Given the description of an element on the screen output the (x, y) to click on. 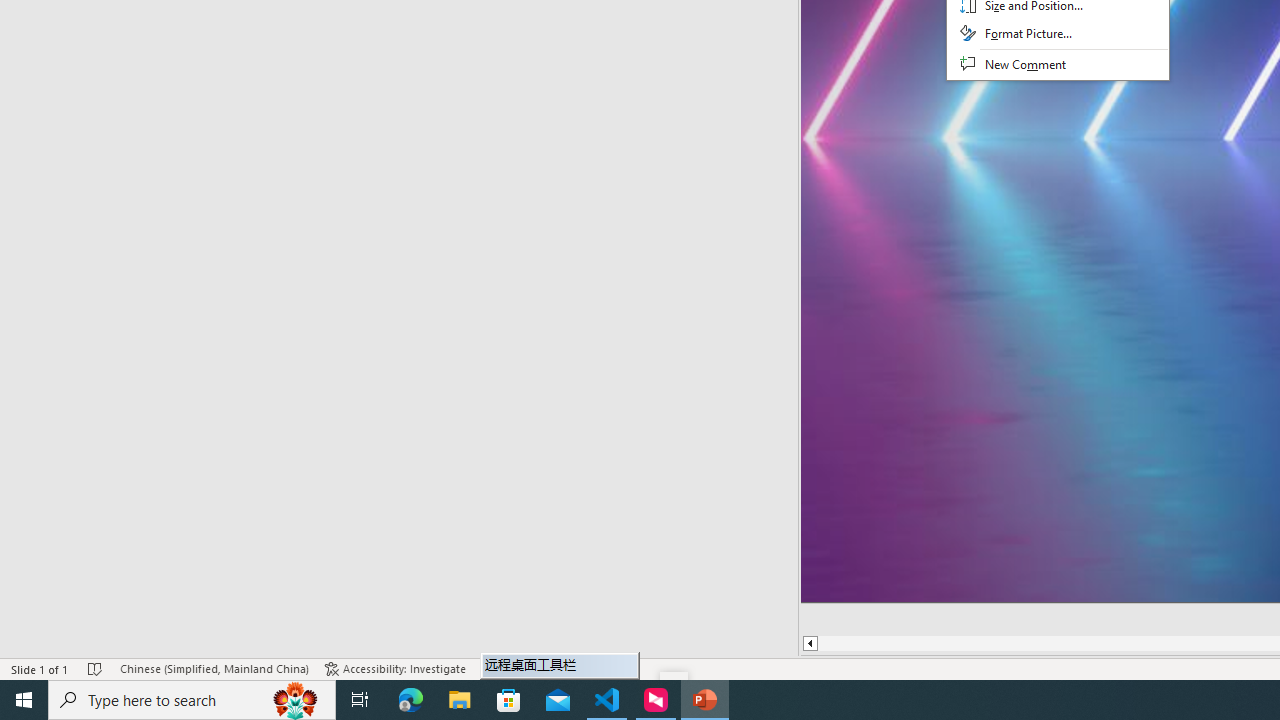
Format Picture... (1057, 34)
